Given the description of an element on the screen output the (x, y) to click on. 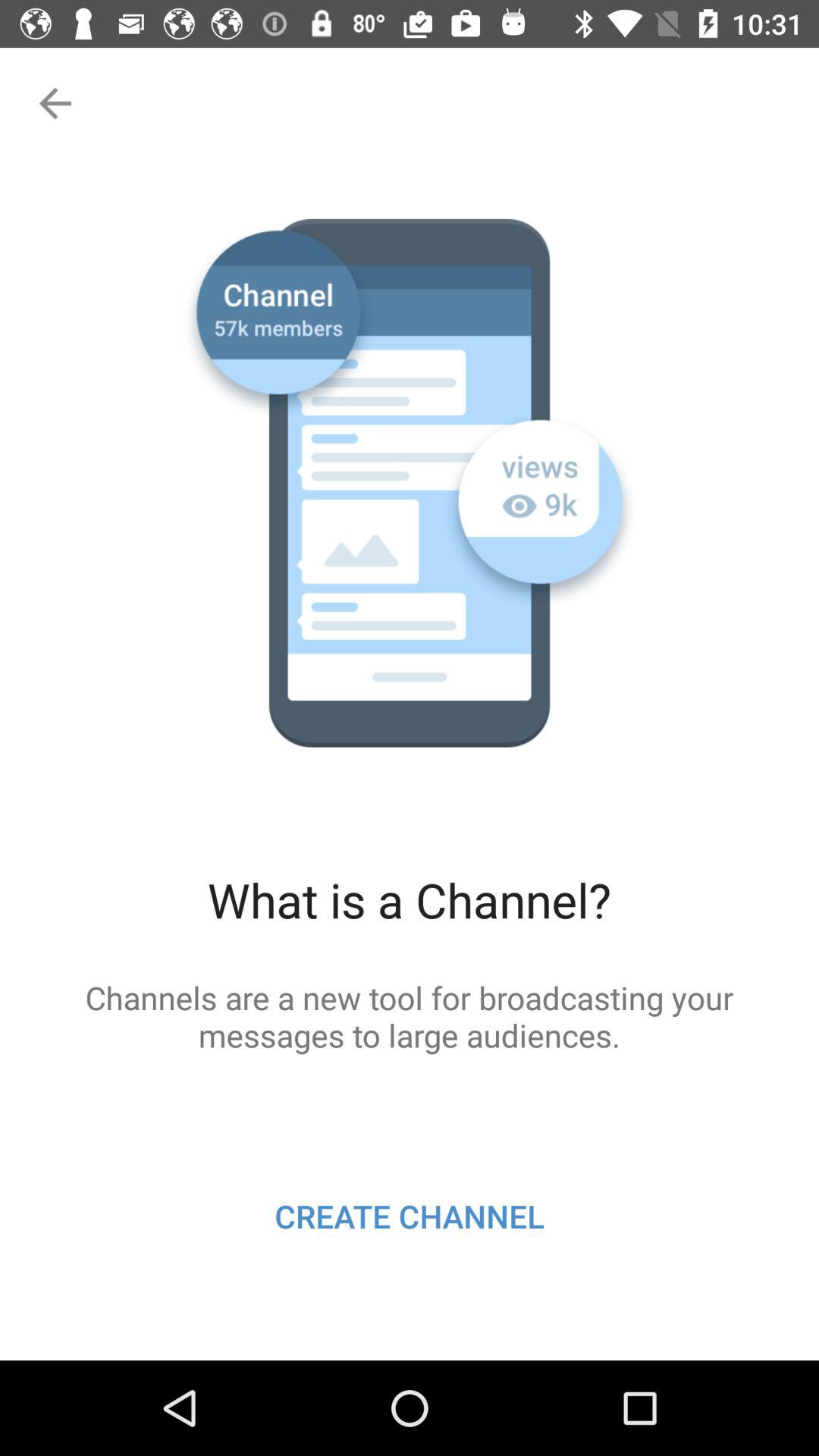
go back (53, 103)
